Given the description of an element on the screen output the (x, y) to click on. 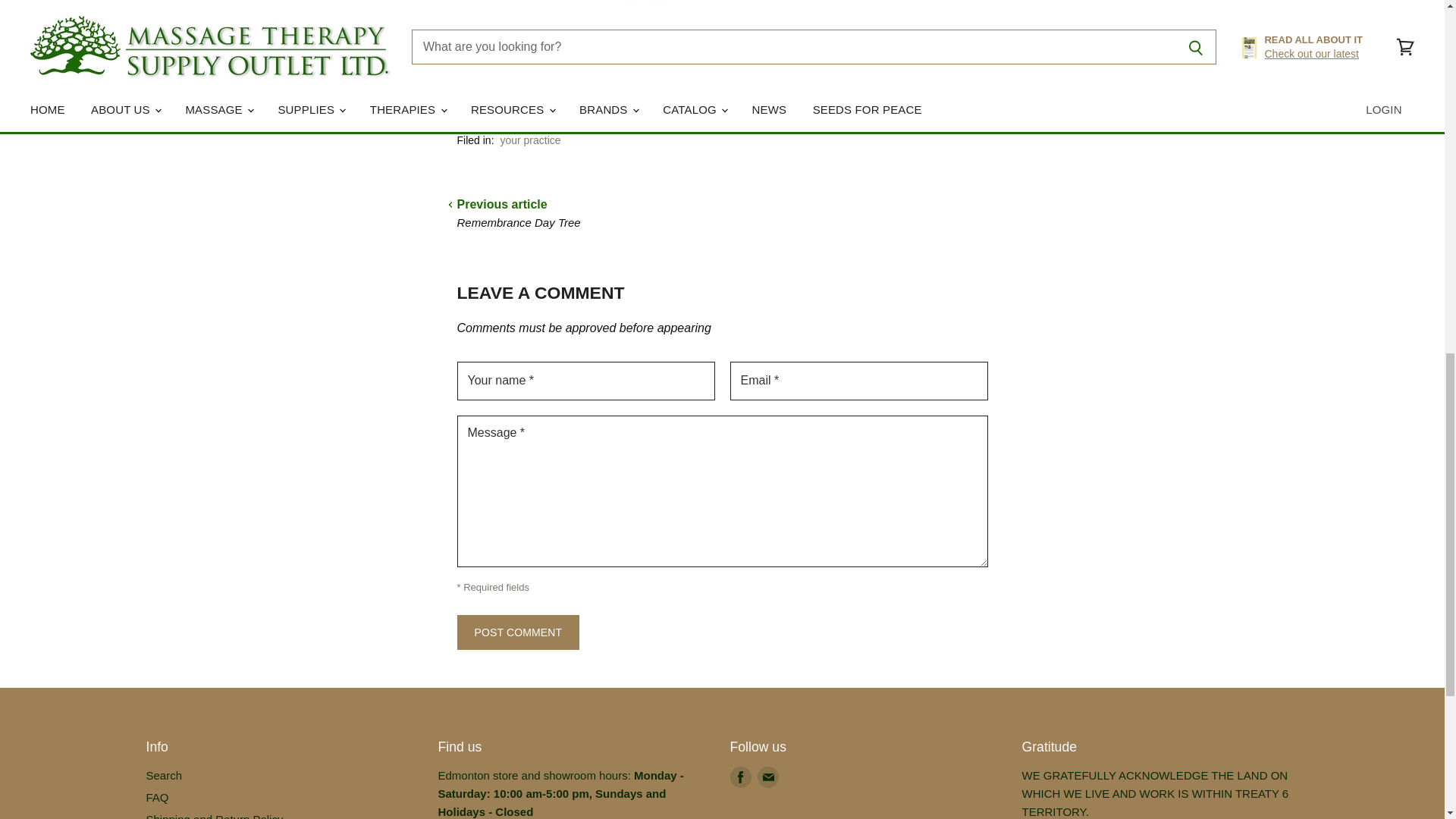
E-mail (767, 777)
RMT Salary expectations (639, 21)
Facebook (740, 777)
Show articles tagged your practice (529, 140)
